Given the description of an element on the screen output the (x, y) to click on. 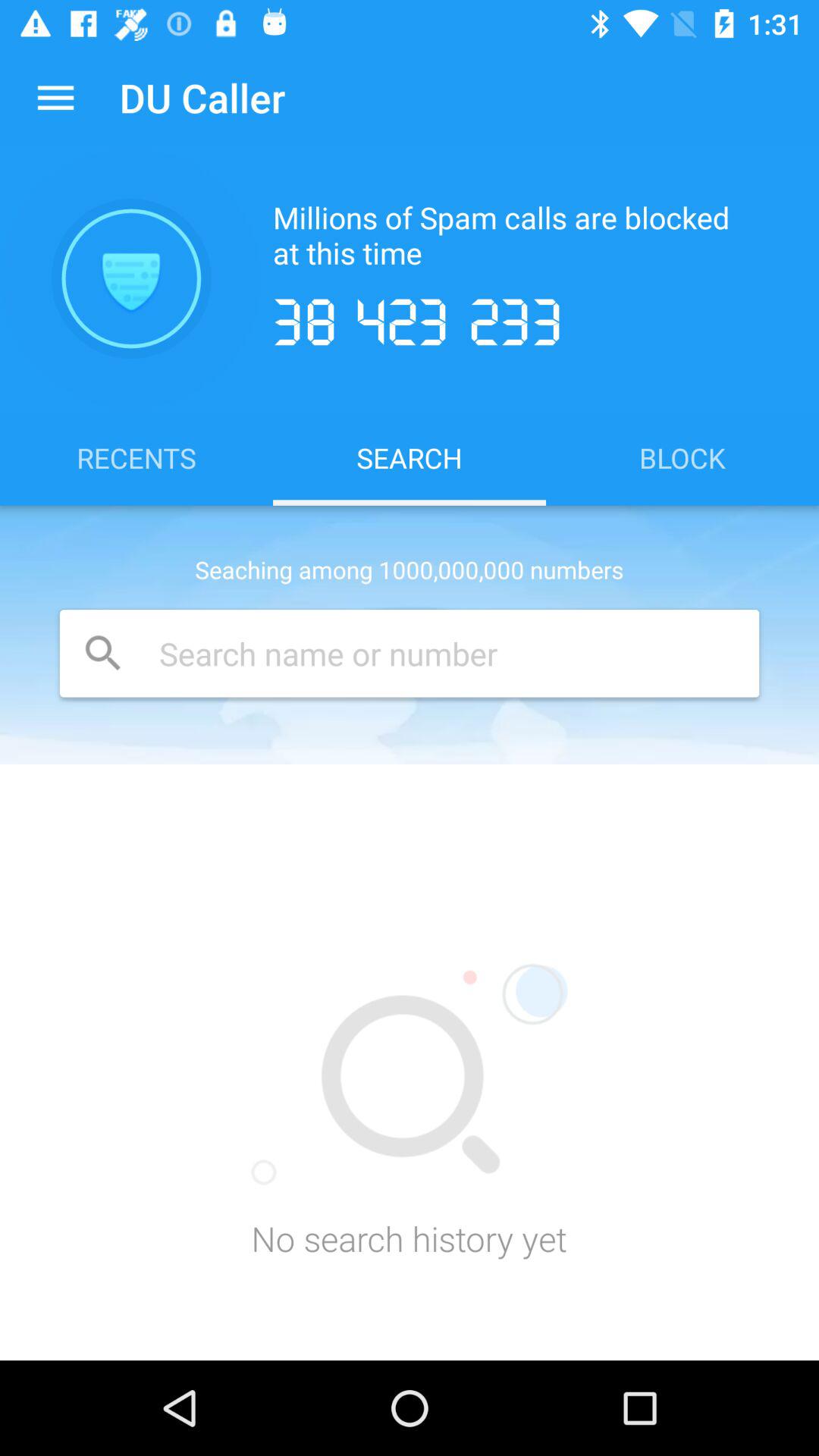
press the item to the left of the du caller (55, 97)
